Given the description of an element on the screen output the (x, y) to click on. 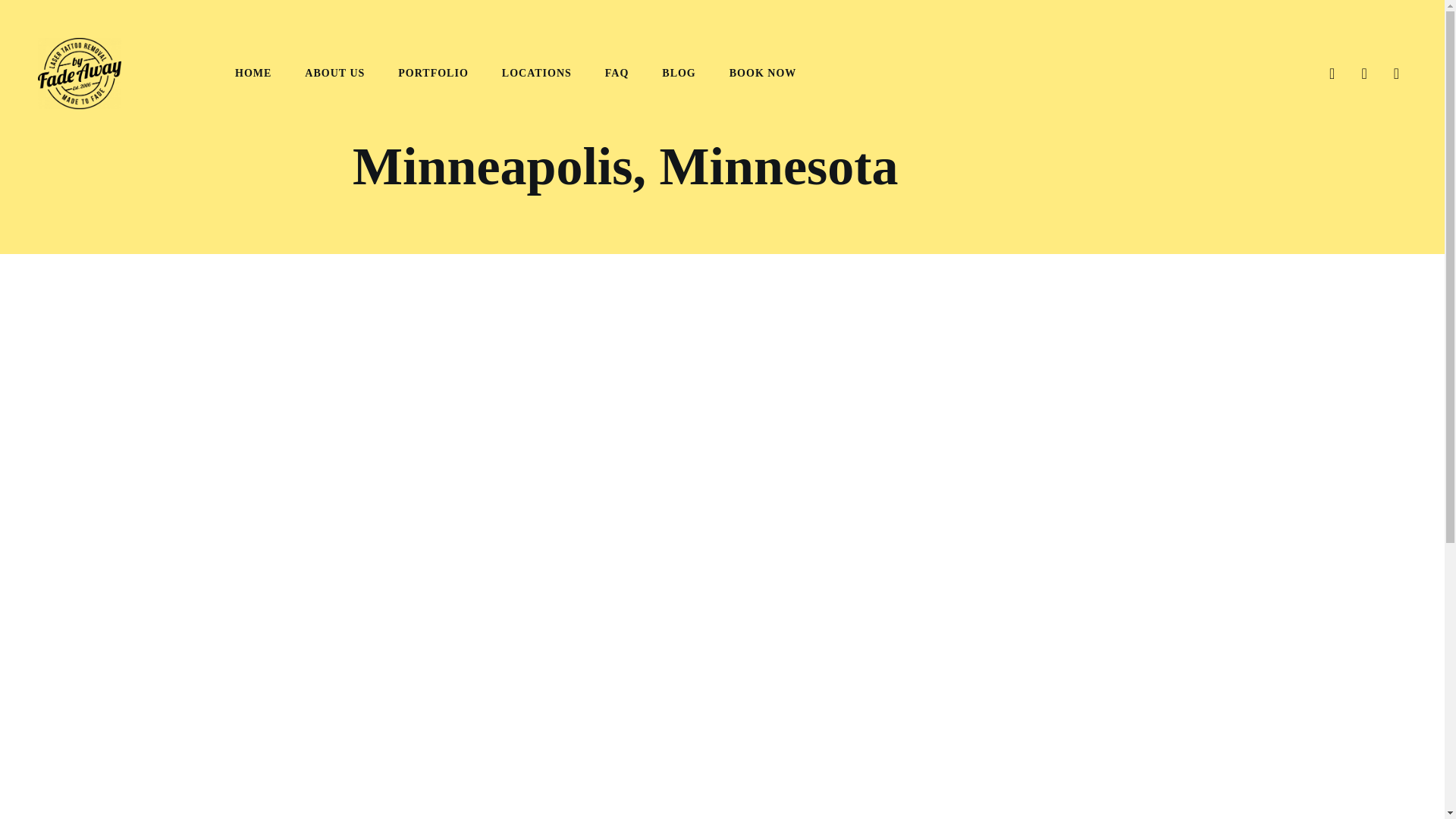
ABOUT US (334, 72)
HOME (252, 72)
PORTFOLIO (432, 72)
BOOK NOW (762, 72)
BLOG (678, 72)
LOCATIONS (537, 72)
